Given the description of an element on the screen output the (x, y) to click on. 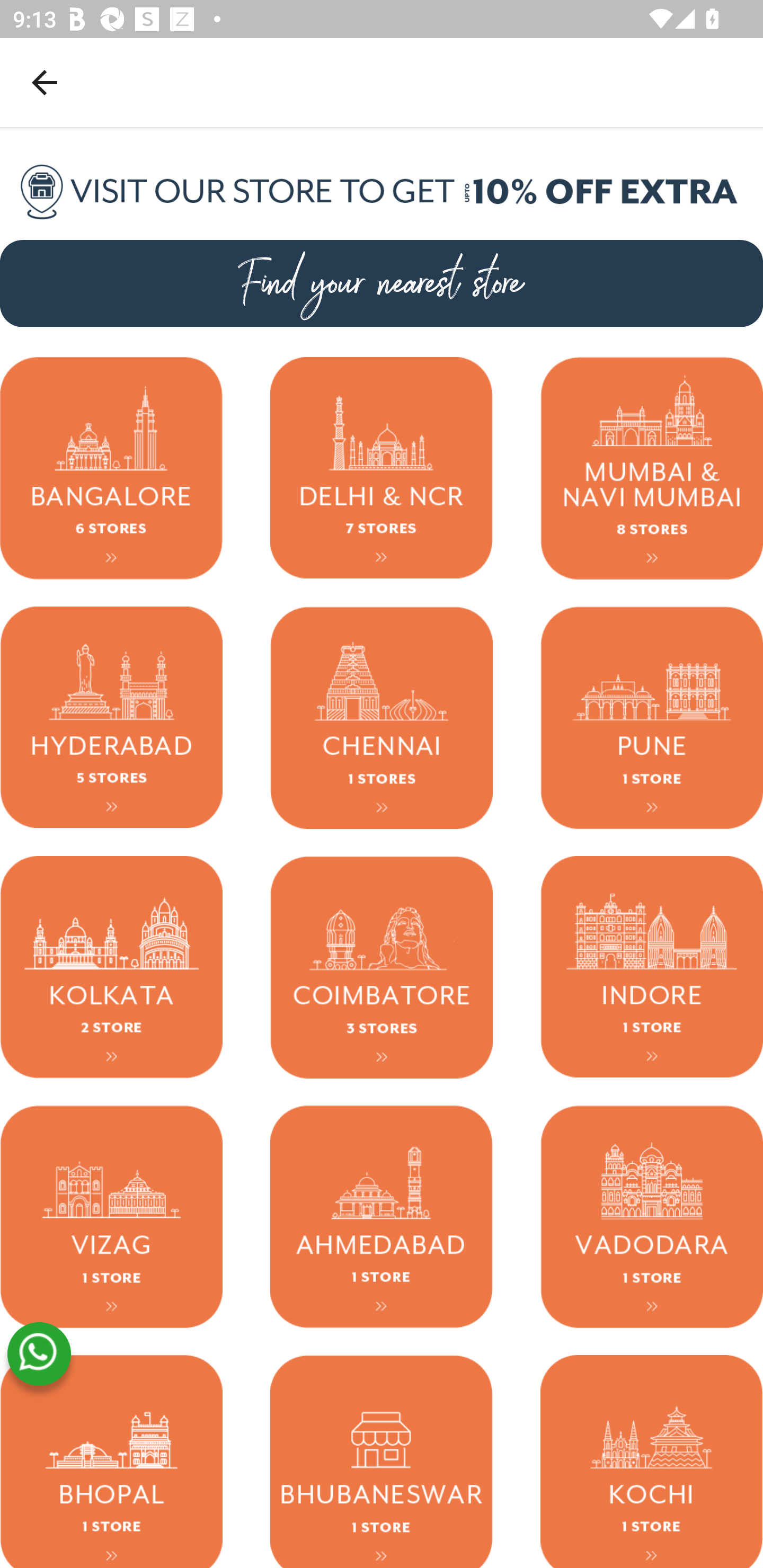
Navigate up (44, 82)
Bangalore (111, 467)
NCR (381, 467)
Mumbai (651, 467)
Hyderabad (111, 717)
Pune-store (651, 717)
Kolkata (111, 966)
Indore (651, 966)
Vizag (111, 1215)
vadodara (651, 1215)
whatsapp (38, 1353)
Bhopal (111, 1461)
Bhubneshwar (381, 1461)
